Given the description of an element on the screen output the (x, y) to click on. 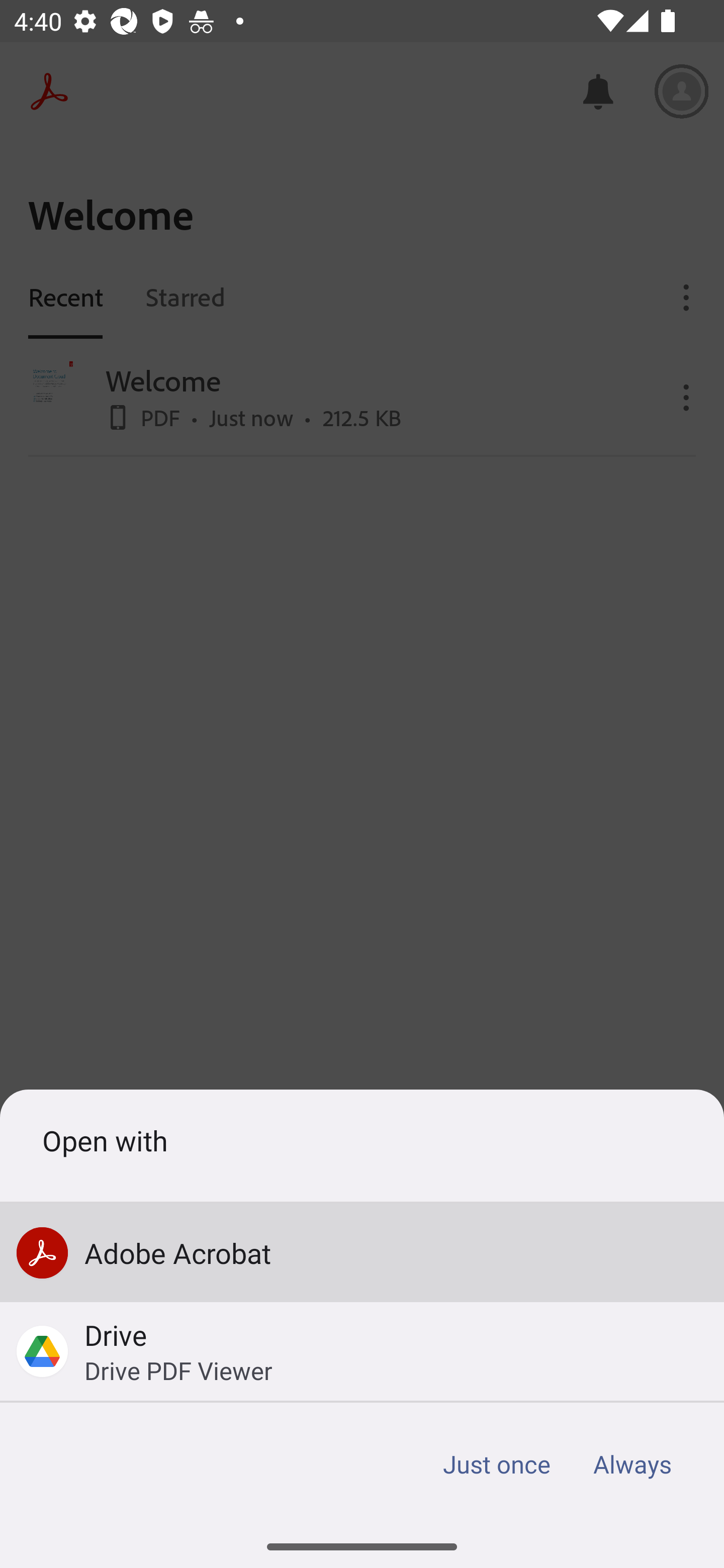
Adobe Acrobat (362, 1252)
Drive Drive PDF Viewer (362, 1350)
Just once (496, 1464)
Always (631, 1464)
